Given the description of an element on the screen output the (x, y) to click on. 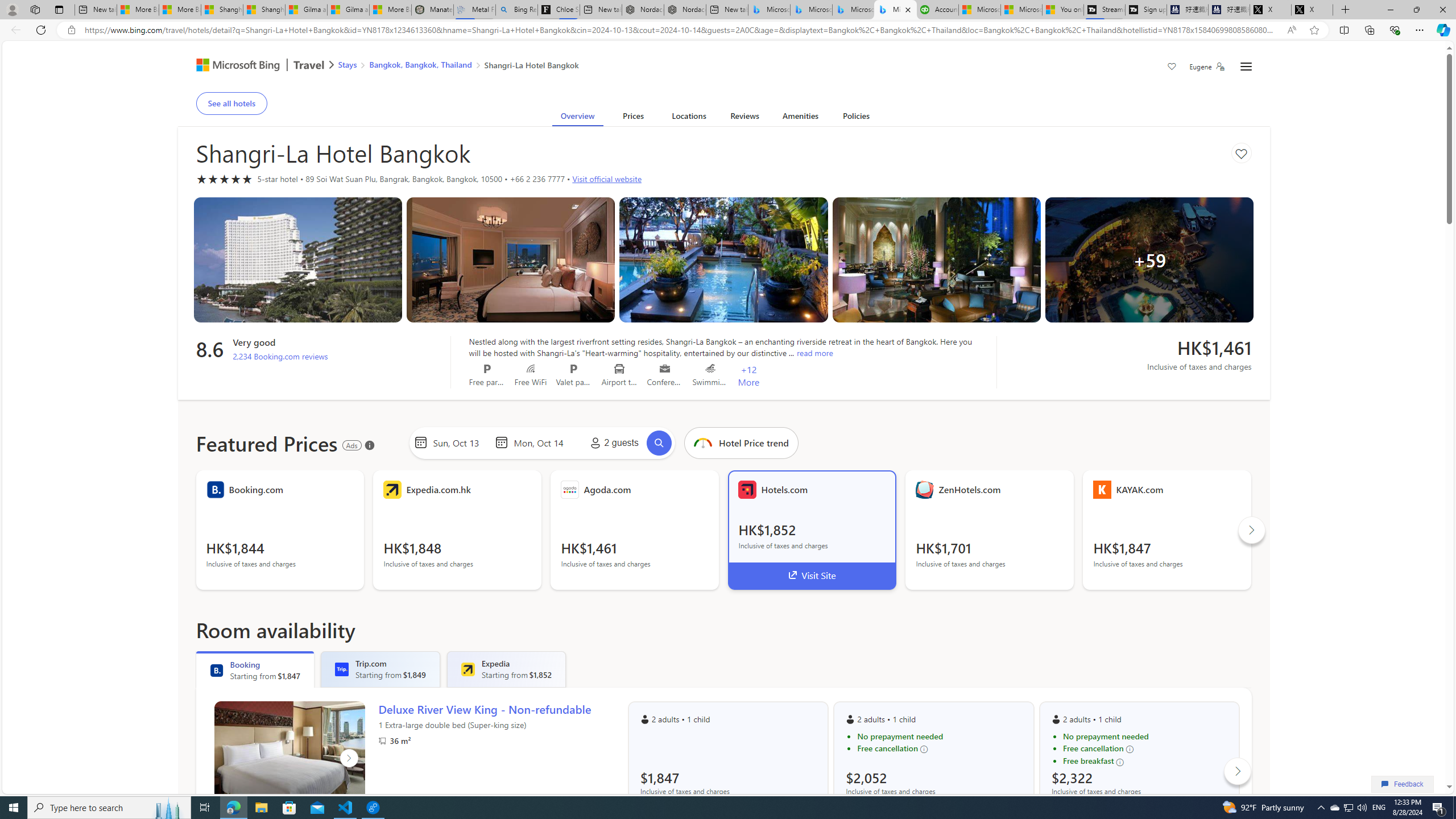
Manatee Mortality Statistics | FWC (432, 9)
Save to collections (1241, 152)
Free breakfast (1144, 761)
Eugene (1206, 66)
Valet parking (574, 368)
Free WiFi (530, 368)
Amenities (800, 118)
